Given the description of an element on the screen output the (x, y) to click on. 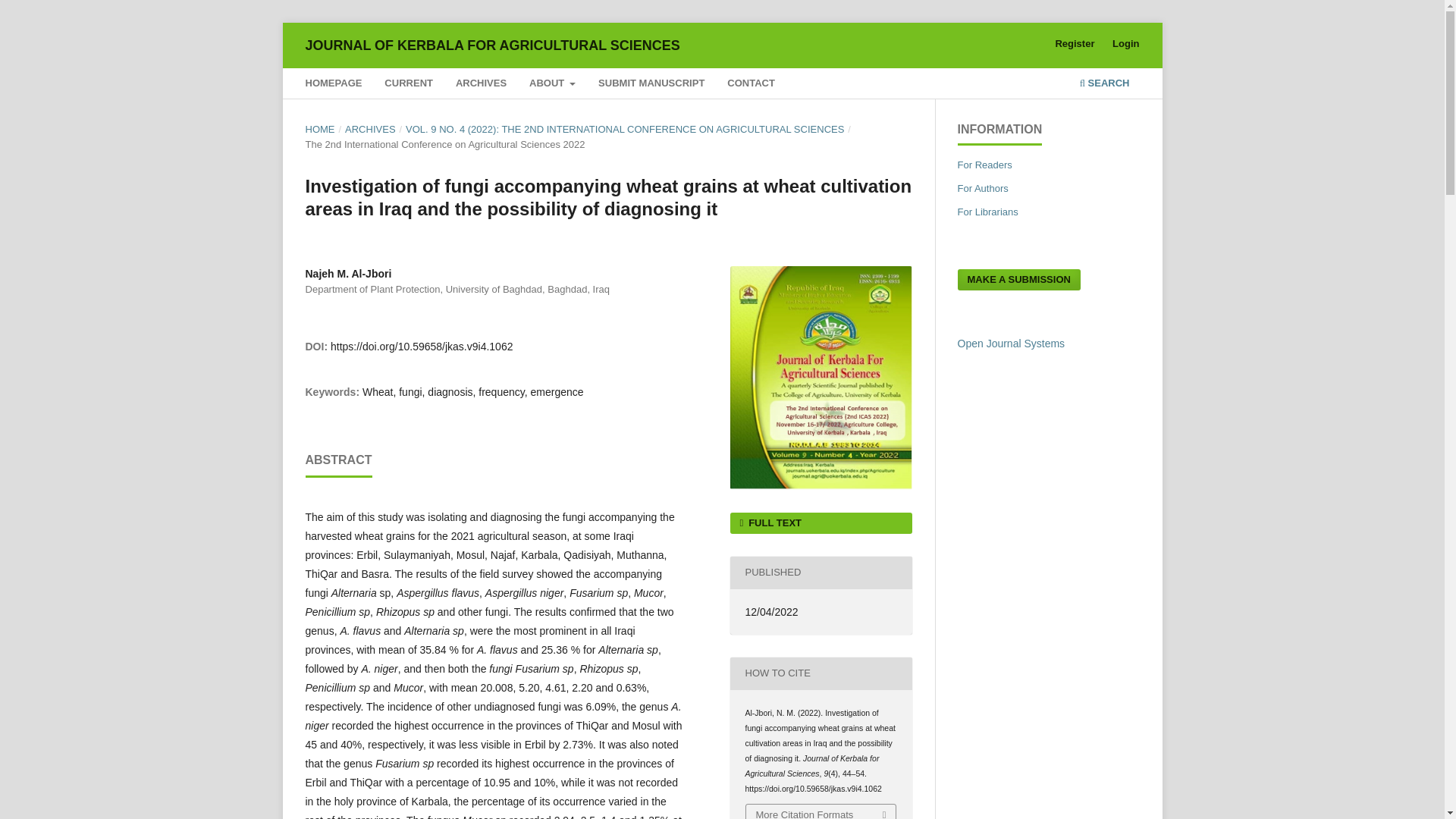
Register (1074, 43)
SEARCH (1104, 85)
JOURNAL OF KERBALA FOR AGRICULTURAL SCIENCES (491, 45)
CURRENT (409, 85)
More Citation Formats (820, 811)
ARCHIVES (370, 129)
Login (1126, 43)
ABOUT (552, 85)
HOMEPAGE (332, 85)
FULL TEXT (820, 522)
